Given the description of an element on the screen output the (x, y) to click on. 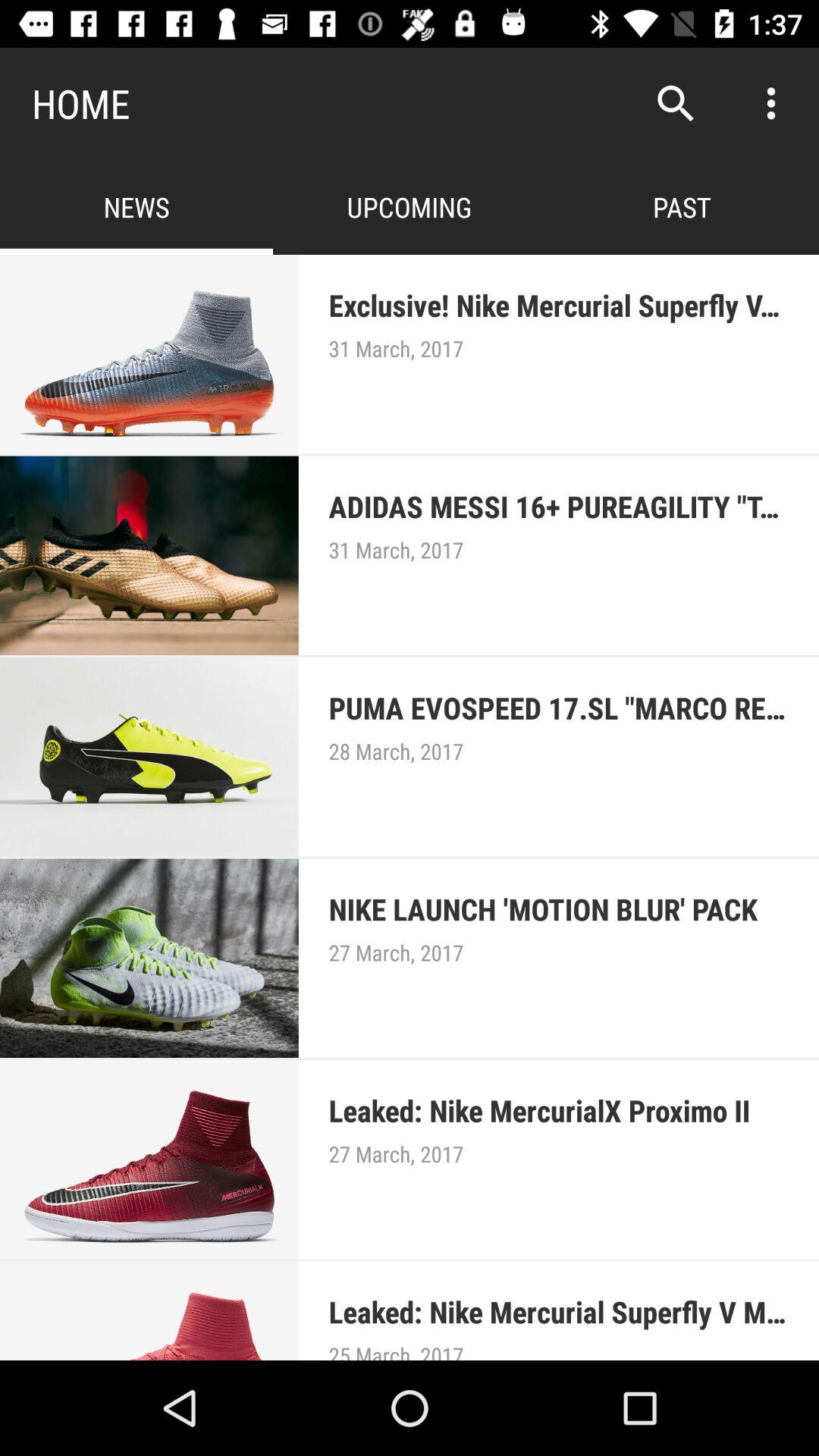
turn off icon next to the home app (675, 103)
